Given the description of an element on the screen output the (x, y) to click on. 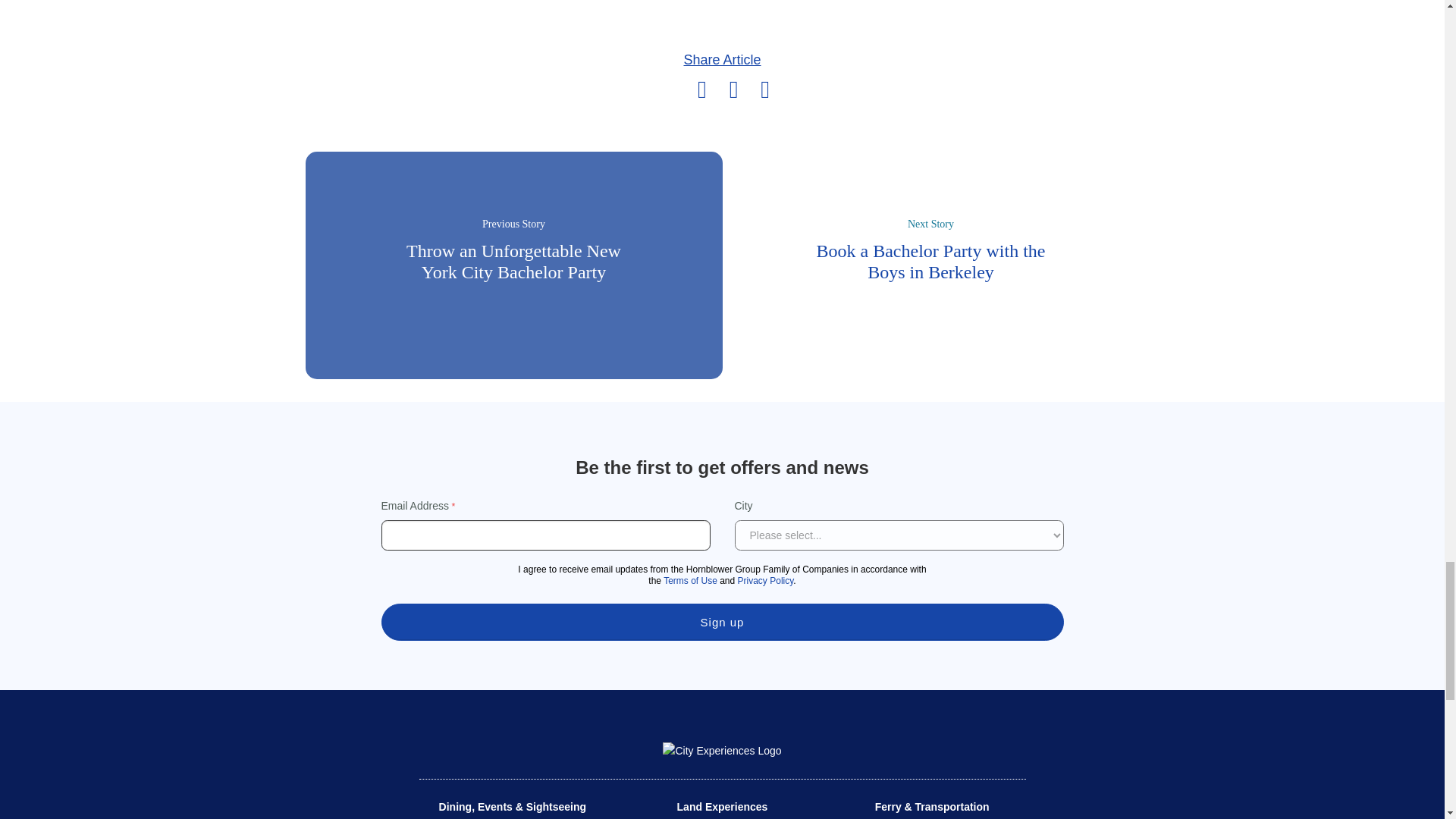
Sign up (721, 621)
